Given the description of an element on the screen output the (x, y) to click on. 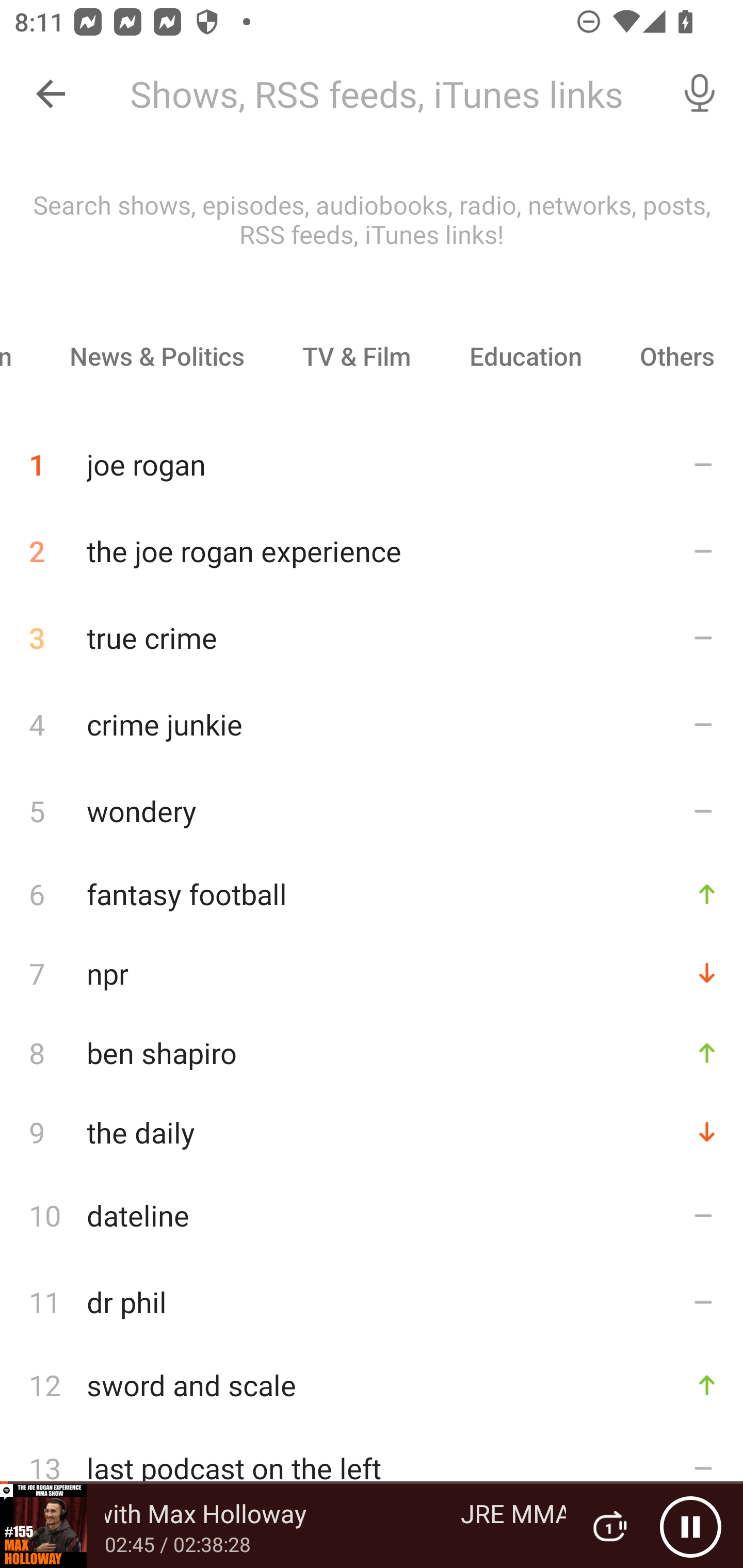
Collapse (50, 93)
Voice Search (699, 93)
Shows, RSS feeds, iTunes links (385, 94)
News & Politics (156, 355)
TV & Film (355, 355)
Education (524, 355)
Others (676, 355)
1 joe rogan (371, 457)
2 the joe rogan experience (371, 551)
3 true crime (371, 637)
4 crime junkie (371, 723)
5 wondery (371, 810)
6 fantasy football (371, 893)
7 npr (371, 972)
8 ben shapiro (371, 1052)
9 the daily (371, 1131)
10 dateline (371, 1215)
11 dr phil (371, 1302)
12 sword and scale (371, 1385)
13 last podcast on the left (371, 1468)
